Given the description of an element on the screen output the (x, y) to click on. 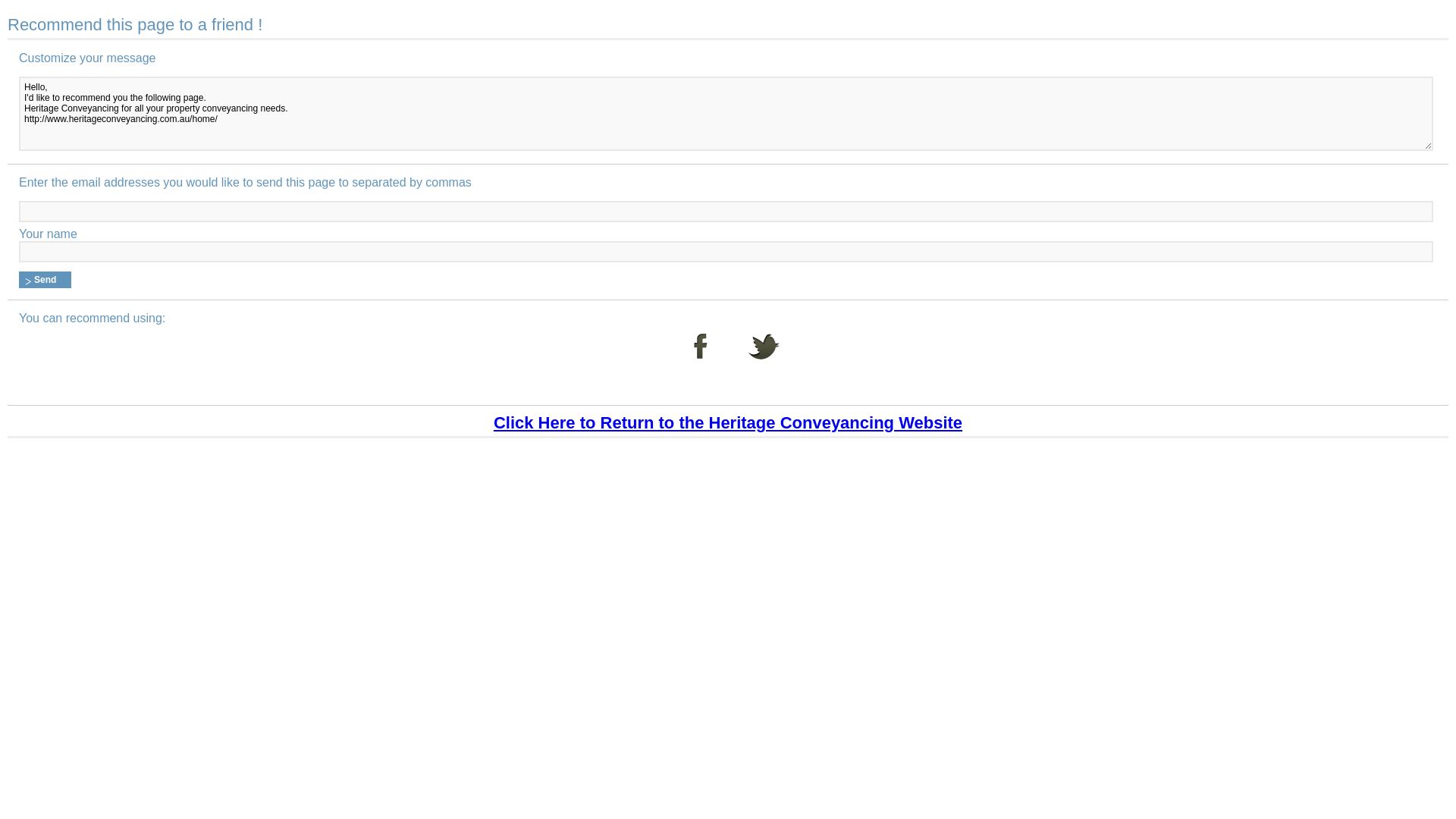
Send Element type: text (44, 279)
Facebook Element type: text (700, 356)
Click Here to Return to the Heritage Conveyancing Website Element type: text (727, 422)
Twitter Element type: text (763, 356)
